Given the description of an element on the screen output the (x, y) to click on. 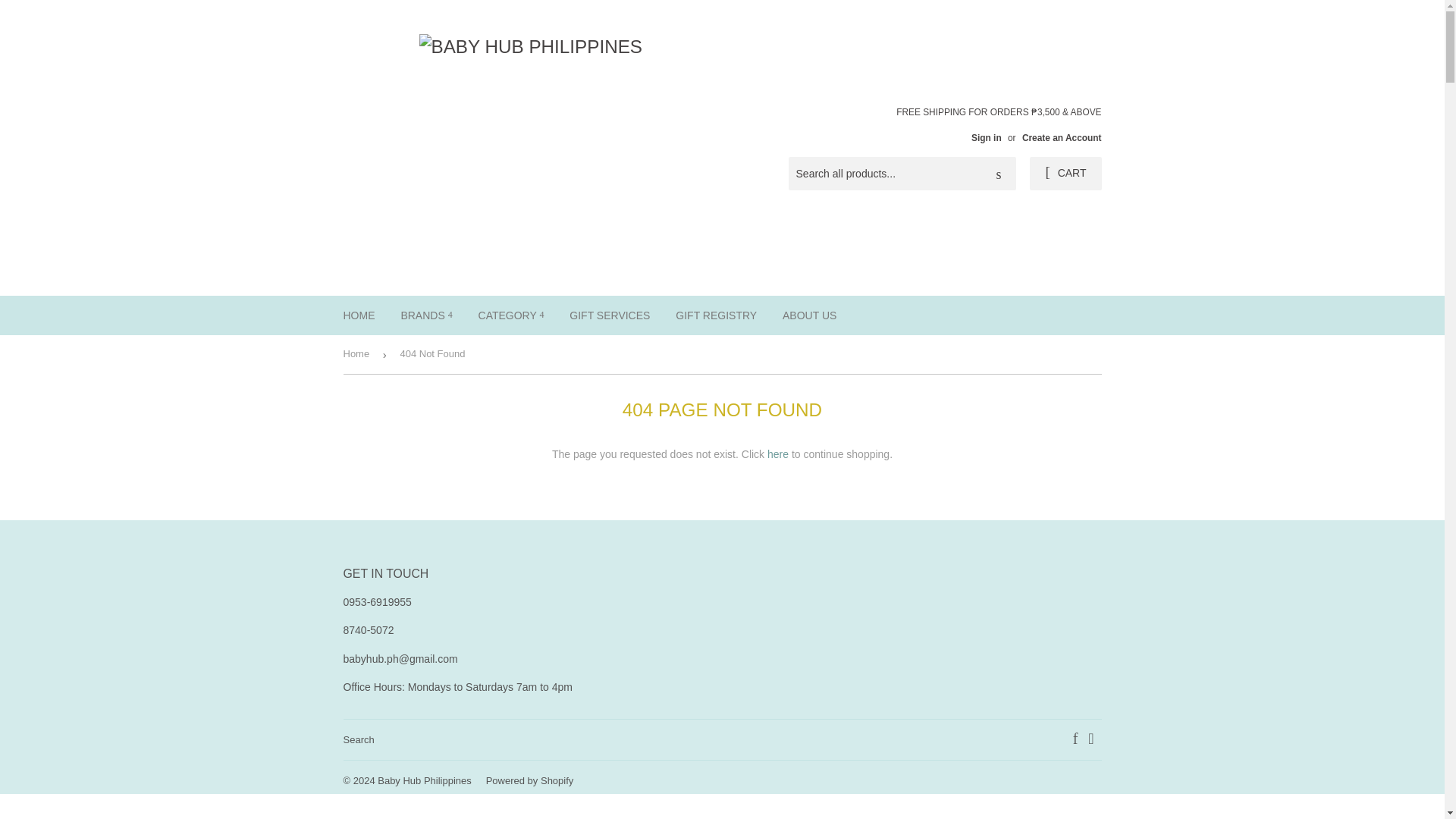
Create an Account (1062, 137)
Sign in (986, 137)
Search (998, 174)
CART (1064, 173)
